Given the description of an element on the screen output the (x, y) to click on. 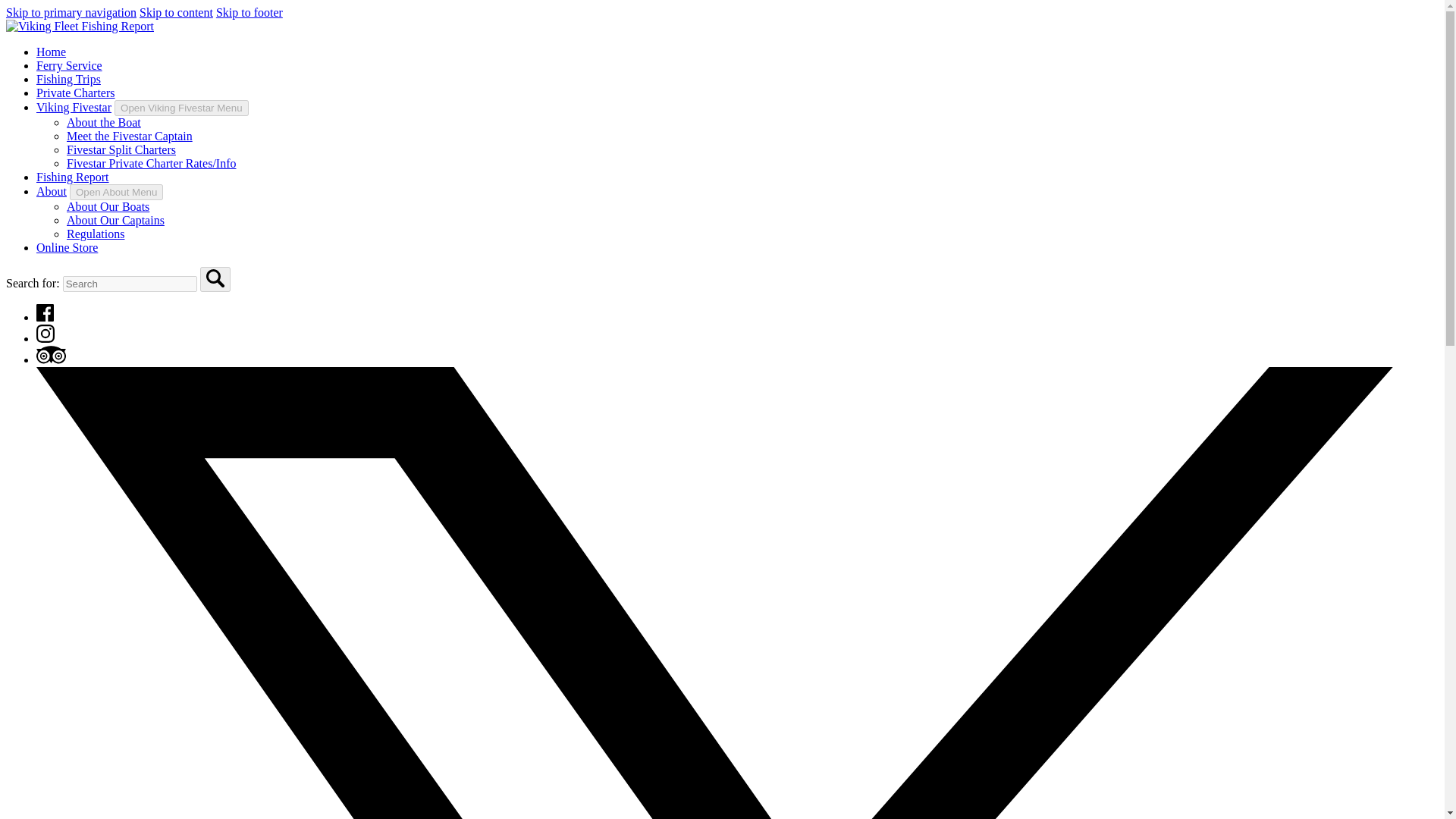
Private Charters (75, 92)
Skip to primary navigation (70, 11)
Open About Menu (116, 191)
Search (215, 278)
Facebook (44, 312)
Ferry Service (68, 65)
Instagram (45, 338)
Fishing Report (72, 176)
Online Store (66, 246)
Regulations (94, 233)
About (51, 191)
Search for:  (129, 283)
Skip to footer (248, 11)
Home (50, 51)
Skip to content (175, 11)
